Given the description of an element on the screen output the (x, y) to click on. 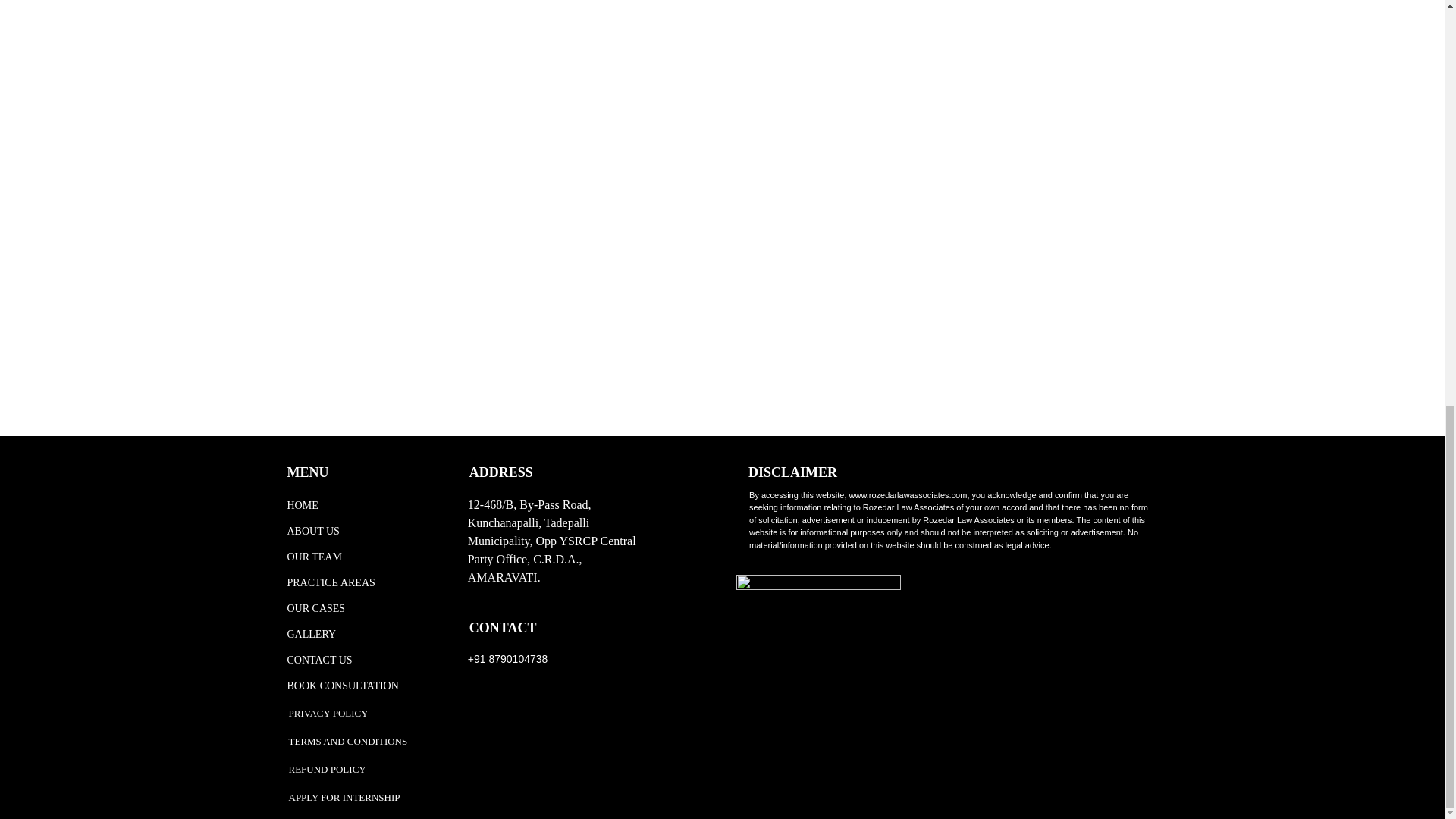
APPLY FOR INTERNSHIP (343, 796)
REFUND POLICY (326, 768)
PRACTICE AREAS (364, 583)
ABOUT US (364, 531)
OUR TEAM (364, 557)
BOOK CONSULTATION (364, 686)
GALLERY (364, 634)
HOME (364, 505)
PRIVACY POLICY (327, 713)
TERMS AND CONDITIONS (347, 741)
OUR CASES (364, 608)
CONTACT US (364, 660)
